Given the description of an element on the screen output the (x, y) to click on. 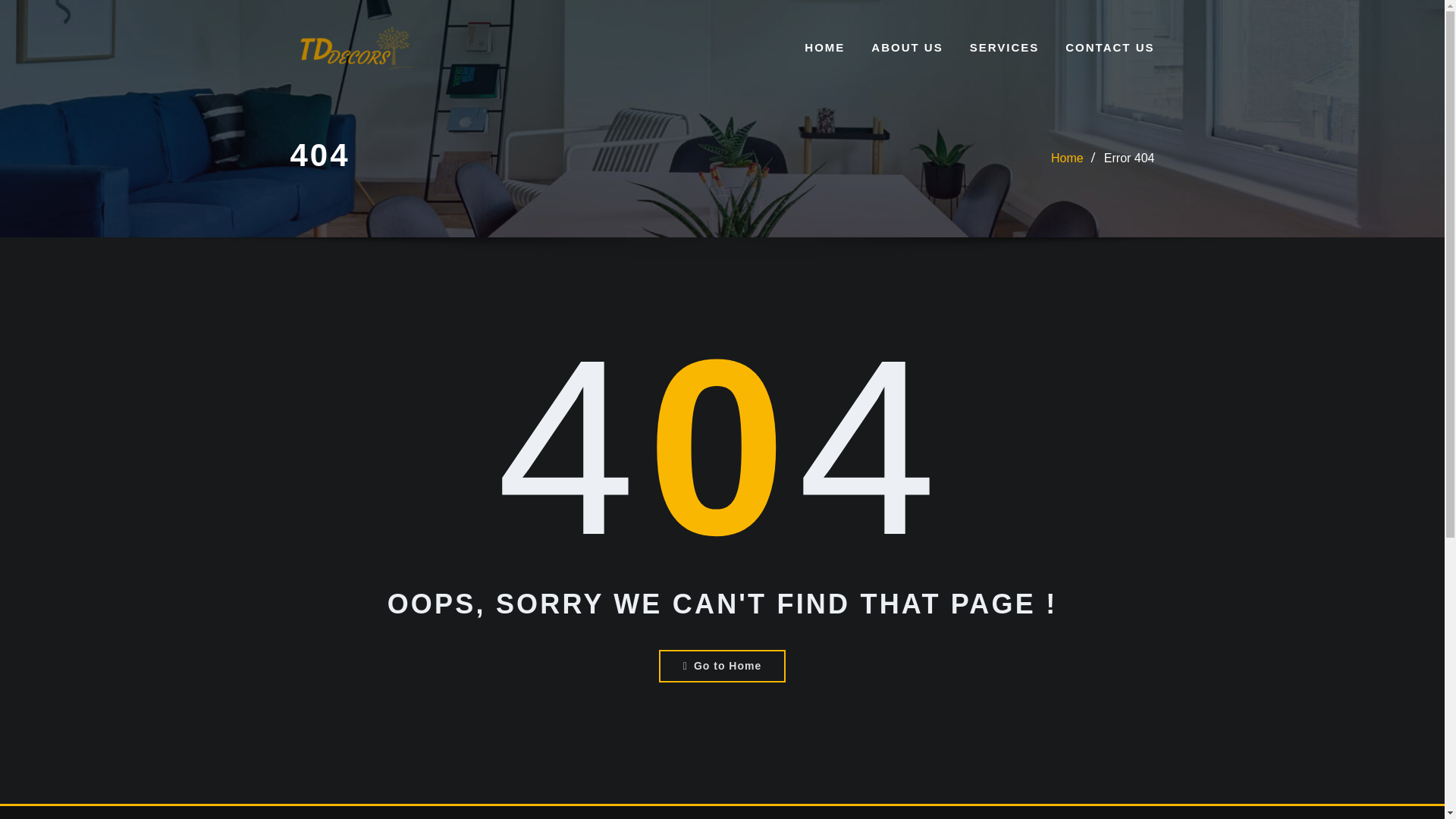
Error 404 (1128, 157)
Go to Home (722, 666)
SERVICES (1004, 47)
Home (1067, 157)
ABOUT US (906, 47)
HOME (824, 47)
CONTACT US (1109, 47)
